Given the description of an element on the screen output the (x, y) to click on. 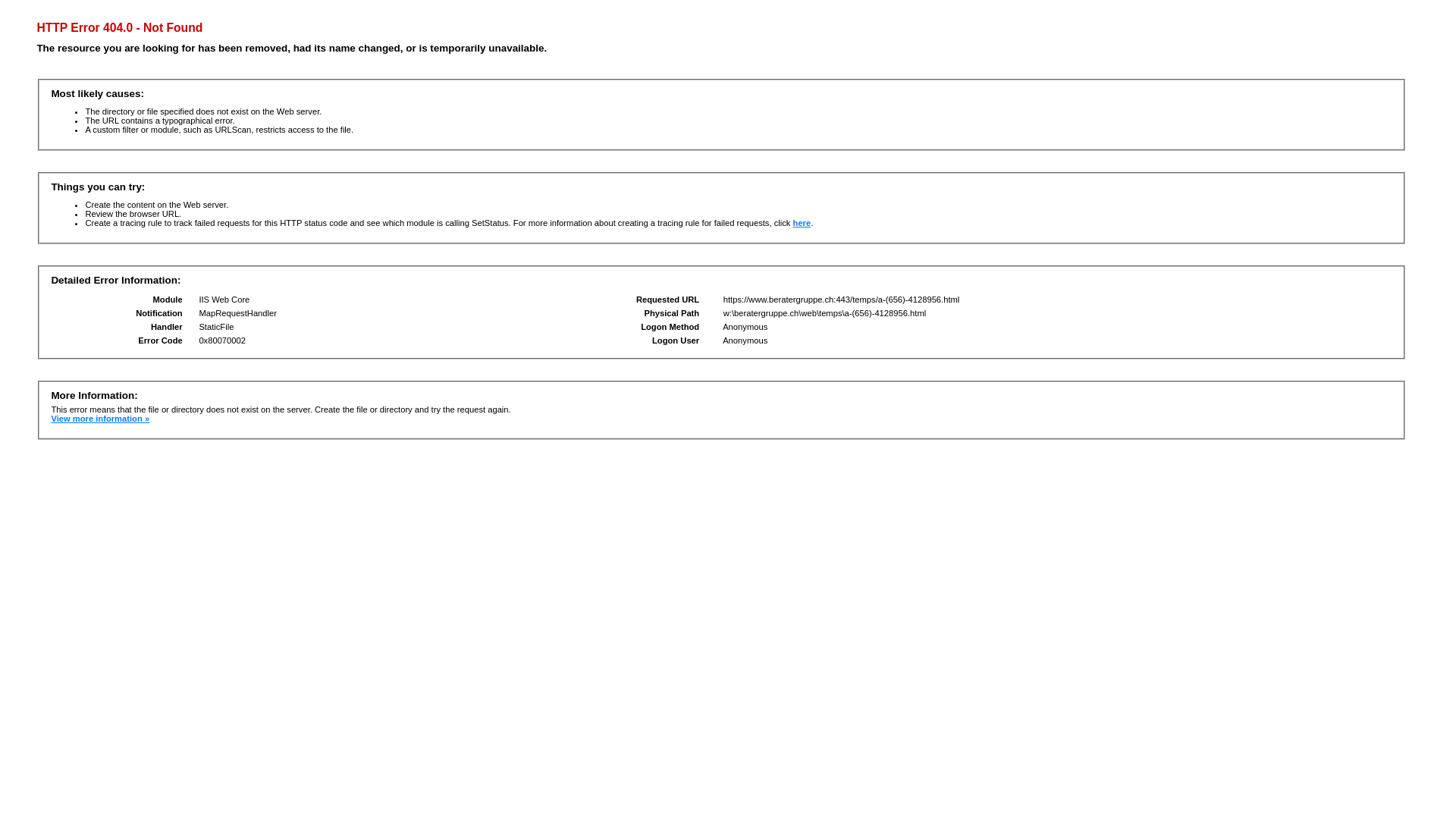
here Element type: text (802, 222)
